Given the description of an element on the screen output the (x, y) to click on. 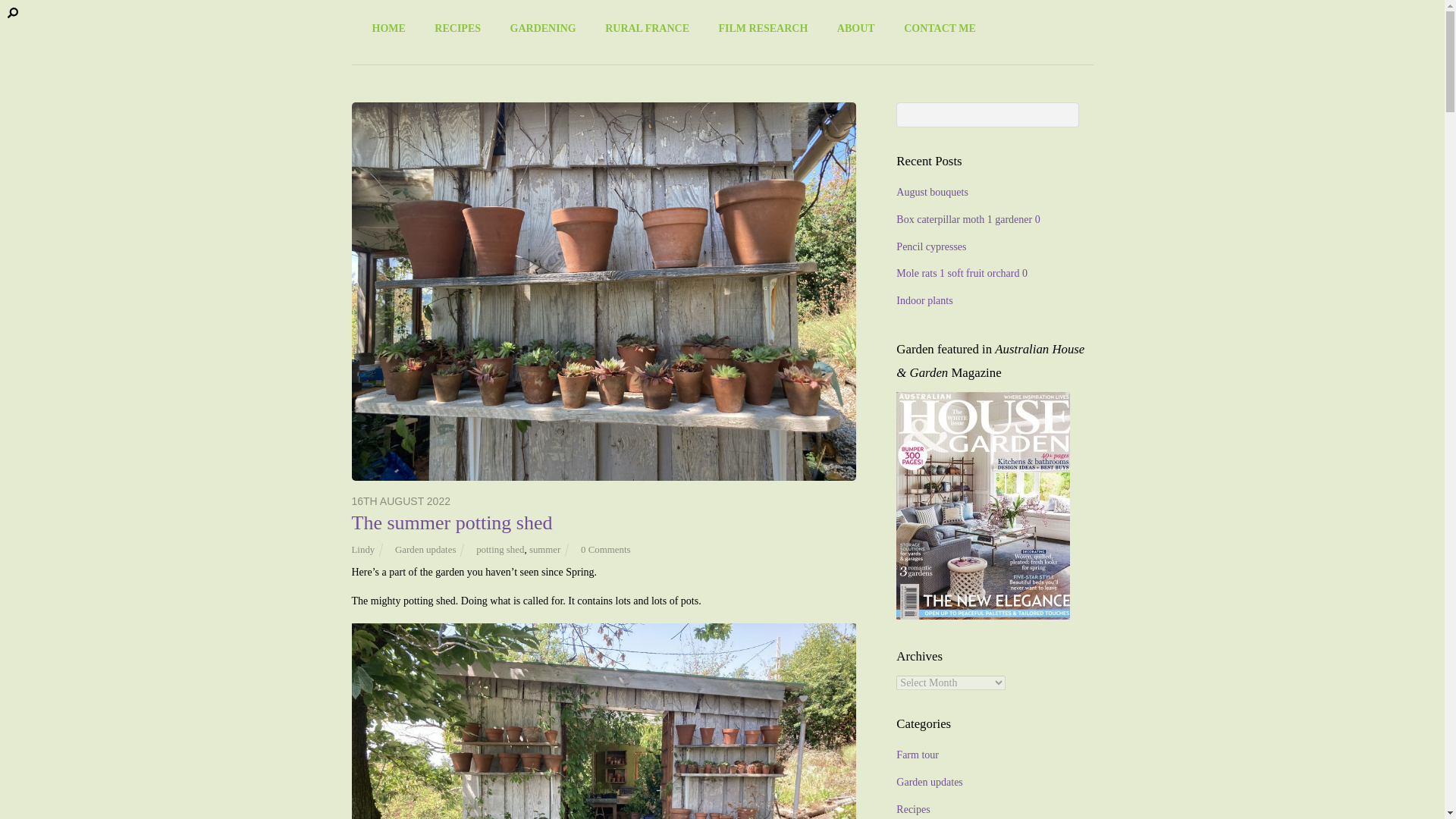
Lindy (363, 549)
ABOUT (855, 28)
summer (544, 549)
RECIPES (457, 28)
Farm tour (917, 754)
Indoor plants (924, 300)
HOME (388, 28)
Search (987, 114)
Pencil cypresses (931, 246)
Recipes (913, 808)
